Given the description of an element on the screen output the (x, y) to click on. 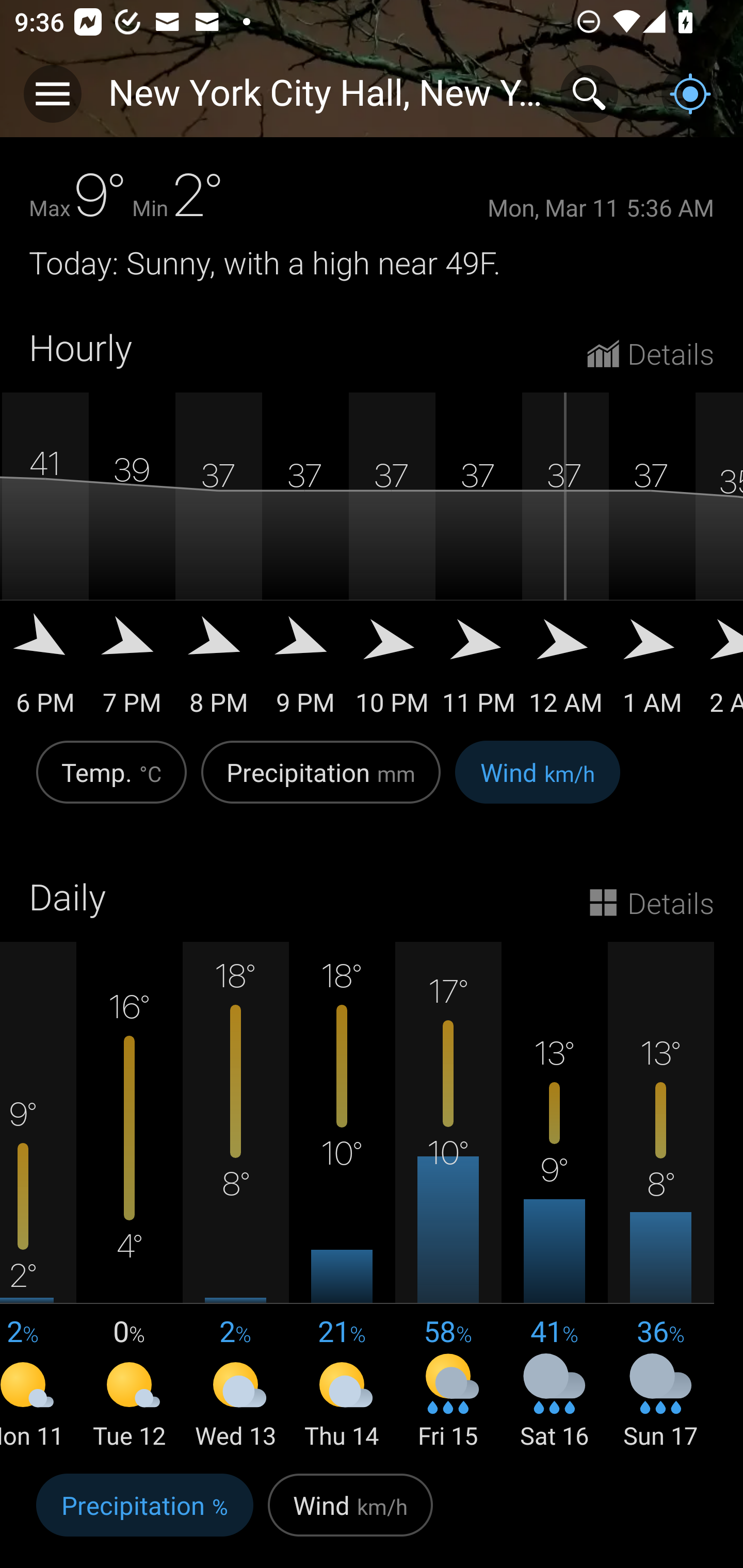
 5 PM (1, 670)
 7 PM (131, 670)
 8 PM (218, 670)
 9 PM (305, 670)
 10 PM (391, 670)
 11 PM (478, 670)
 12 AM (565, 670)
 1 AM (651, 670)
 2 AM (719, 670)
Temp. °C (110, 782)
Precipitation mm (320, 782)
Wind km/h (537, 782)
9° 2° 2 % Mon 11 (38, 1196)
16° 4° 0 % Tue 12 (129, 1196)
18° 8° 2 % Wed 13 (235, 1196)
18° 10° 21 % Thu 14 (342, 1196)
17° 10° 58 % Fri 15 (448, 1196)
13° 9° 41 % Sat 16 (554, 1196)
13° 8° 36 % Sun 17 (660, 1196)
Precipitation % (144, 1515)
Wind km/h (349, 1515)
